Given the description of an element on the screen output the (x, y) to click on. 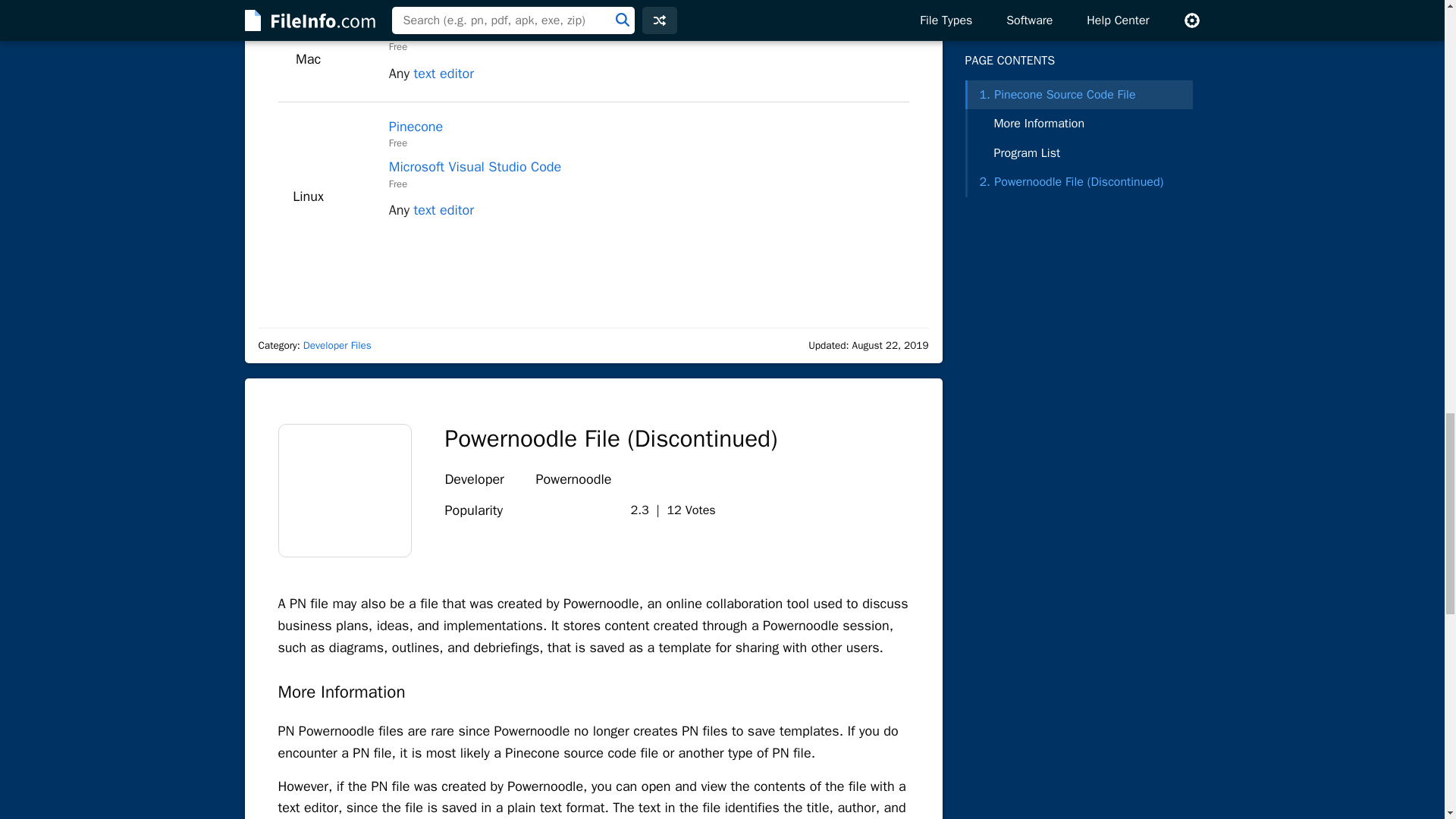
Document Icon (344, 490)
Microsoft Visual Studio Code (475, 30)
text editor (443, 73)
